Given the description of an element on the screen output the (x, y) to click on. 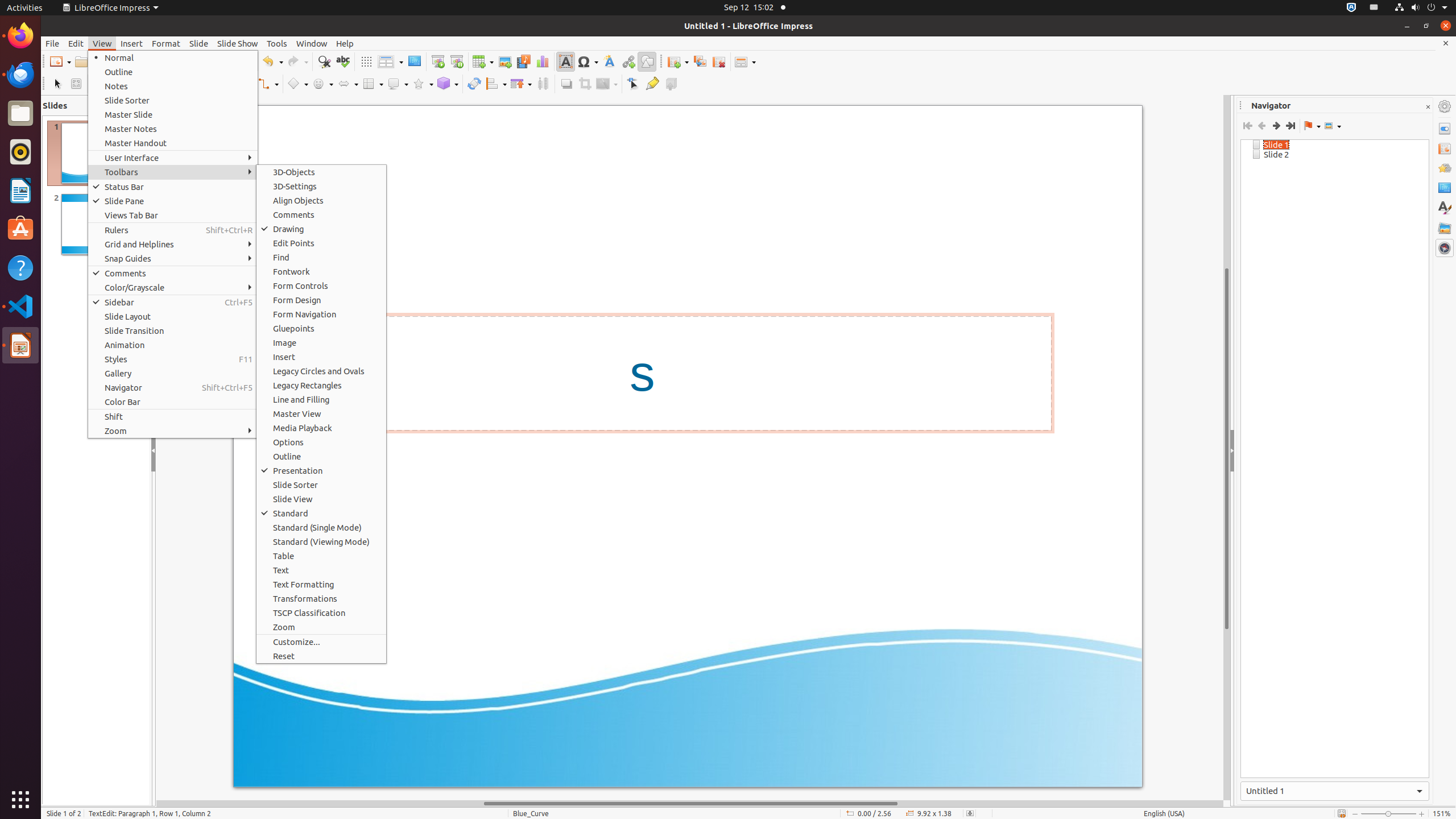
User Interface Element type: menu (172, 157)
Line and Filling Element type: check-menu-item (321, 399)
Files Element type: push-button (20, 113)
Animation Element type: menu-item (172, 344)
Master Handout Element type: radio-menu-item (172, 142)
